Given the description of an element on the screen output the (x, y) to click on. 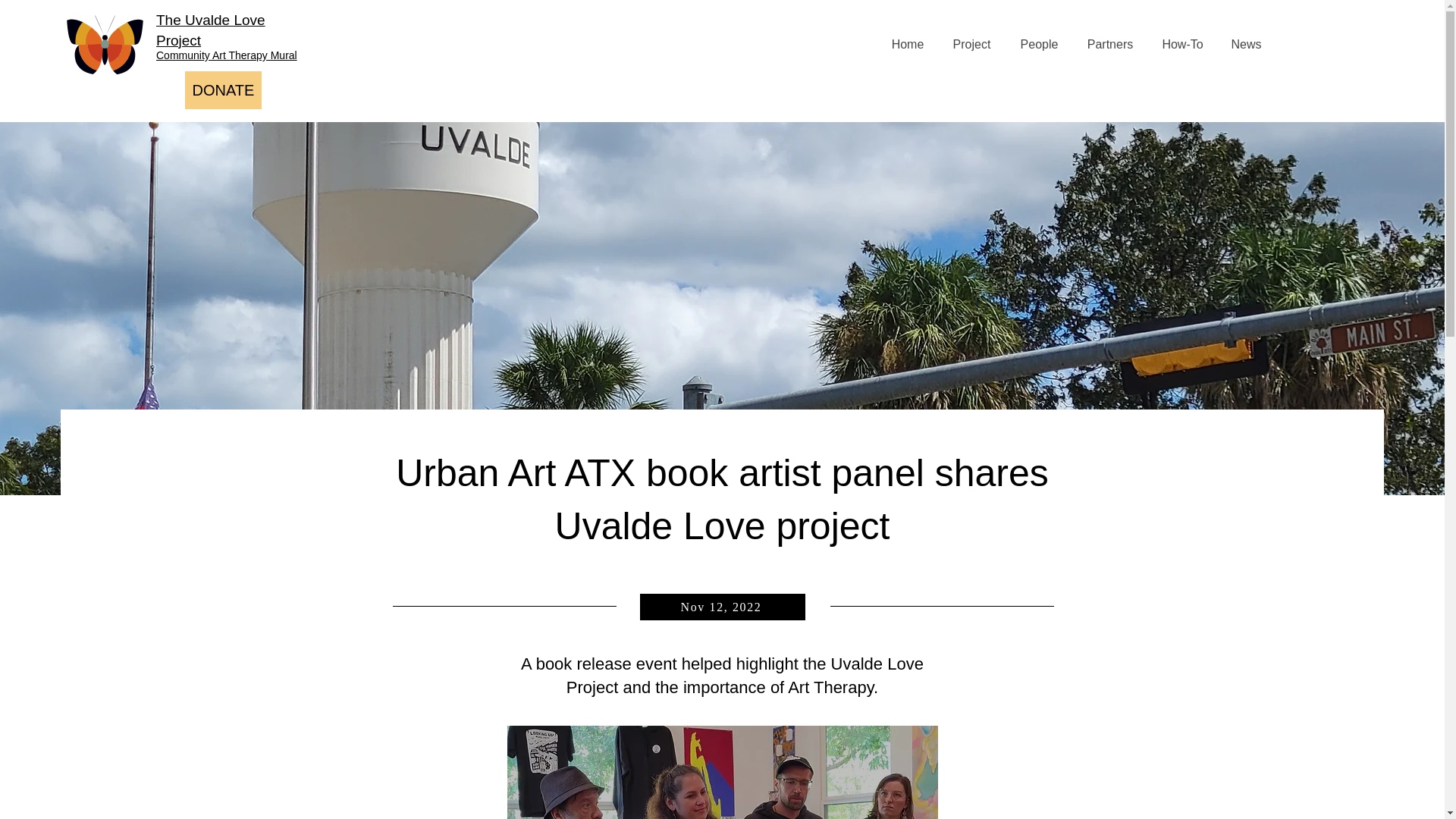
Partners (1109, 44)
Project (971, 44)
People (1038, 44)
Community Art Therapy Mural (226, 55)
The Uvalde Love Project (209, 30)
Home (907, 44)
DONATE (223, 89)
News (1246, 44)
How-To (1182, 44)
